Given the description of an element on the screen output the (x, y) to click on. 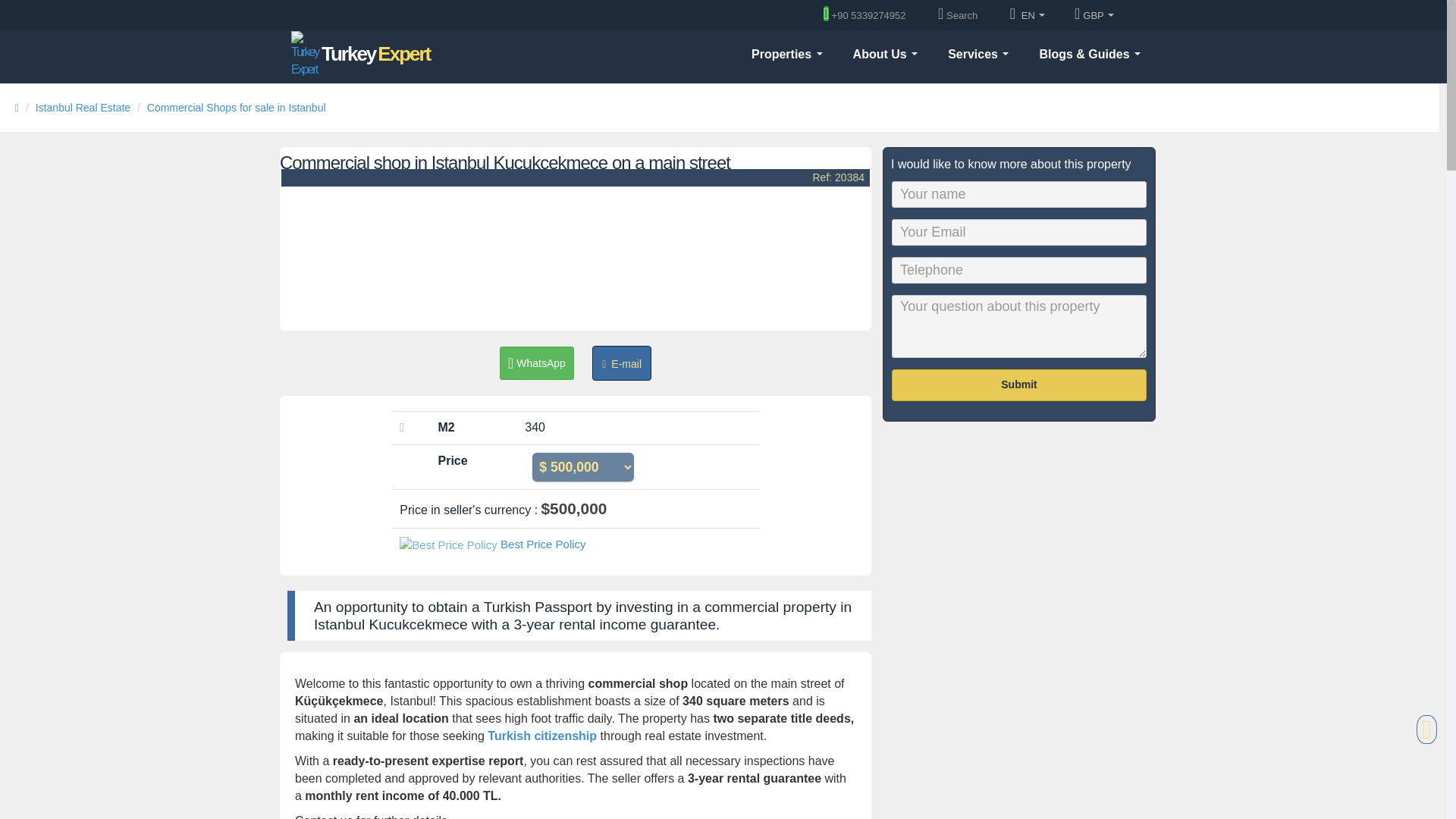
Search (961, 15)
Professional real estate agent in Turkey (360, 53)
Turkey real estate (787, 53)
EN (1027, 15)
Change Language (1027, 15)
About Us (885, 53)
GBP (1093, 15)
Properties (360, 53)
